Given the description of an element on the screen output the (x, y) to click on. 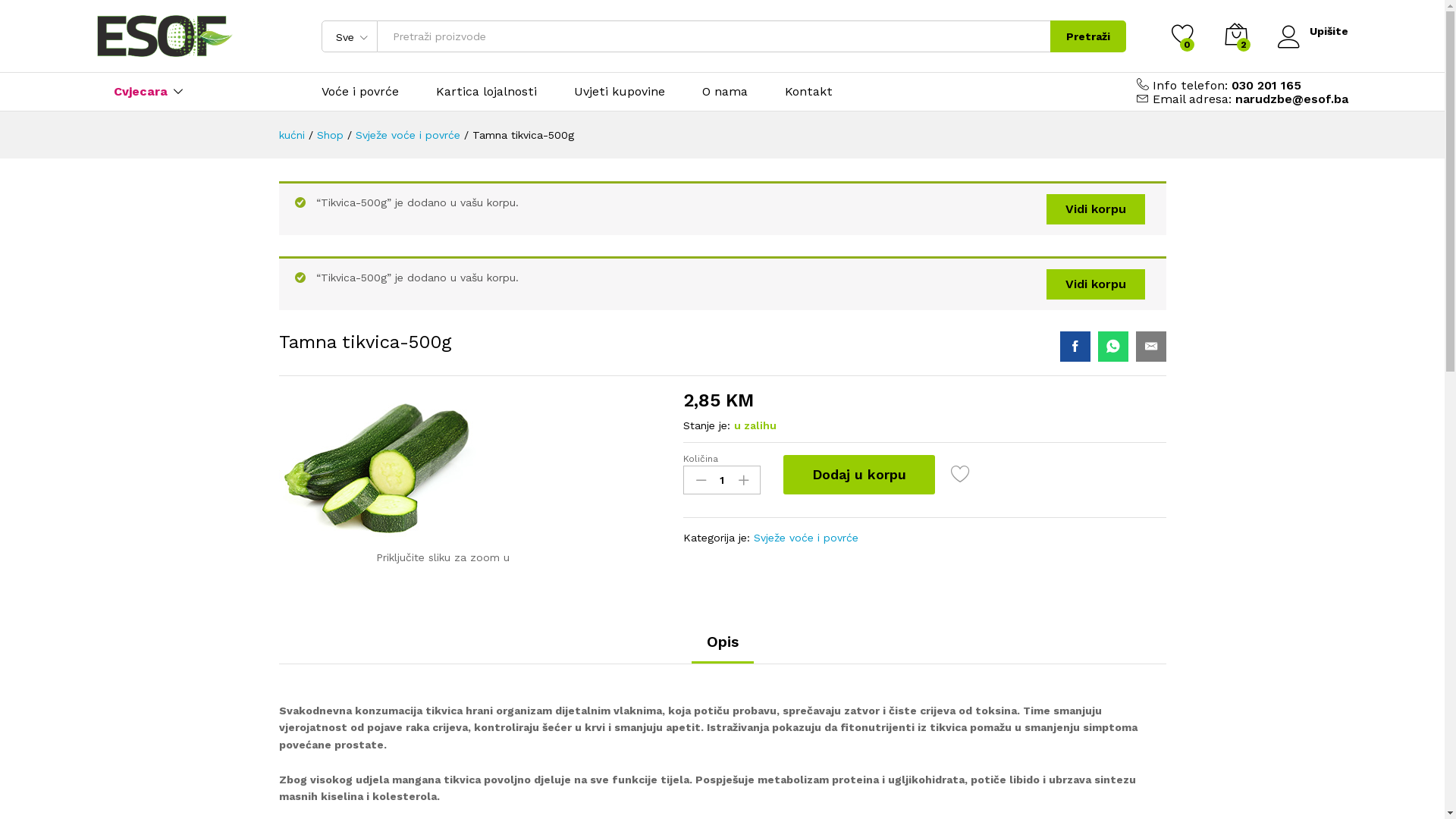
Tamna tikvica-500g Element type: hover (1113, 346)
Kontakt Element type: text (808, 91)
Kartica lojalnosti Element type: text (486, 91)
Shop Element type: text (329, 134)
Opis Element type: text (722, 641)
Qt Element type: hover (721, 479)
O nama Element type: text (724, 91)
tikvice2 Element type: hover (377, 465)
Uvjeti kupovine Element type: text (619, 91)
2 Element type: text (1234, 35)
Email adresa: narudzbe@esof.ba Element type: text (1247, 98)
Tamna tikvica-500g Element type: hover (1150, 346)
Info telefon: 030 201 165 Element type: text (1224, 85)
Vidi korpu Element type: text (1095, 209)
Dodaj u korpu Element type: text (859, 474)
Cvjecara Element type: text (140, 91)
Vidi korpu Element type: text (1095, 284)
Tamna tikvica-500g Element type: text (522, 134)
0 Element type: text (1181, 35)
Tamna tikvica-500g Element type: hover (1075, 346)
